Given the description of an element on the screen output the (x, y) to click on. 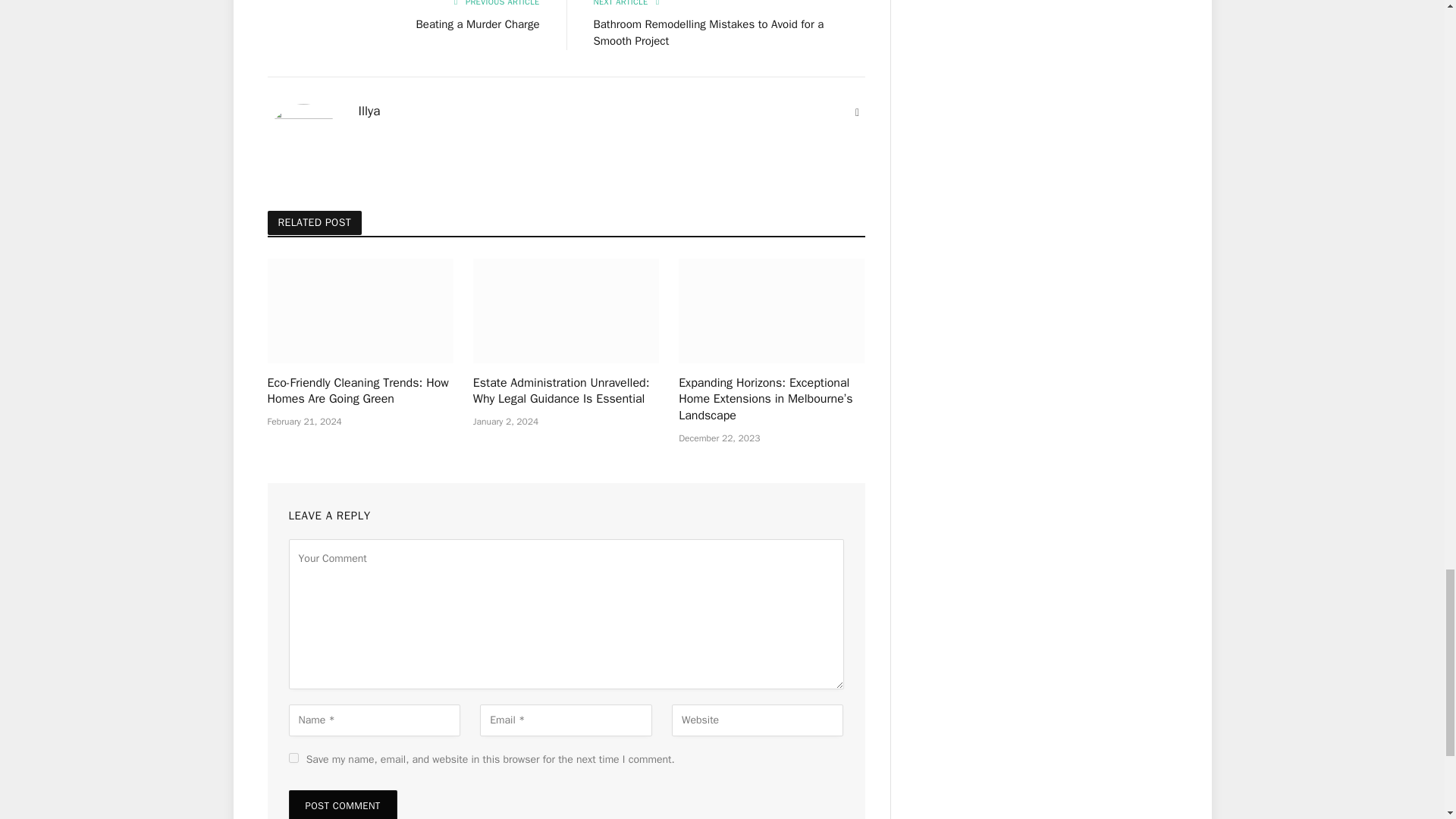
yes (293, 757)
Post Comment (342, 804)
